Given the description of an element on the screen output the (x, y) to click on. 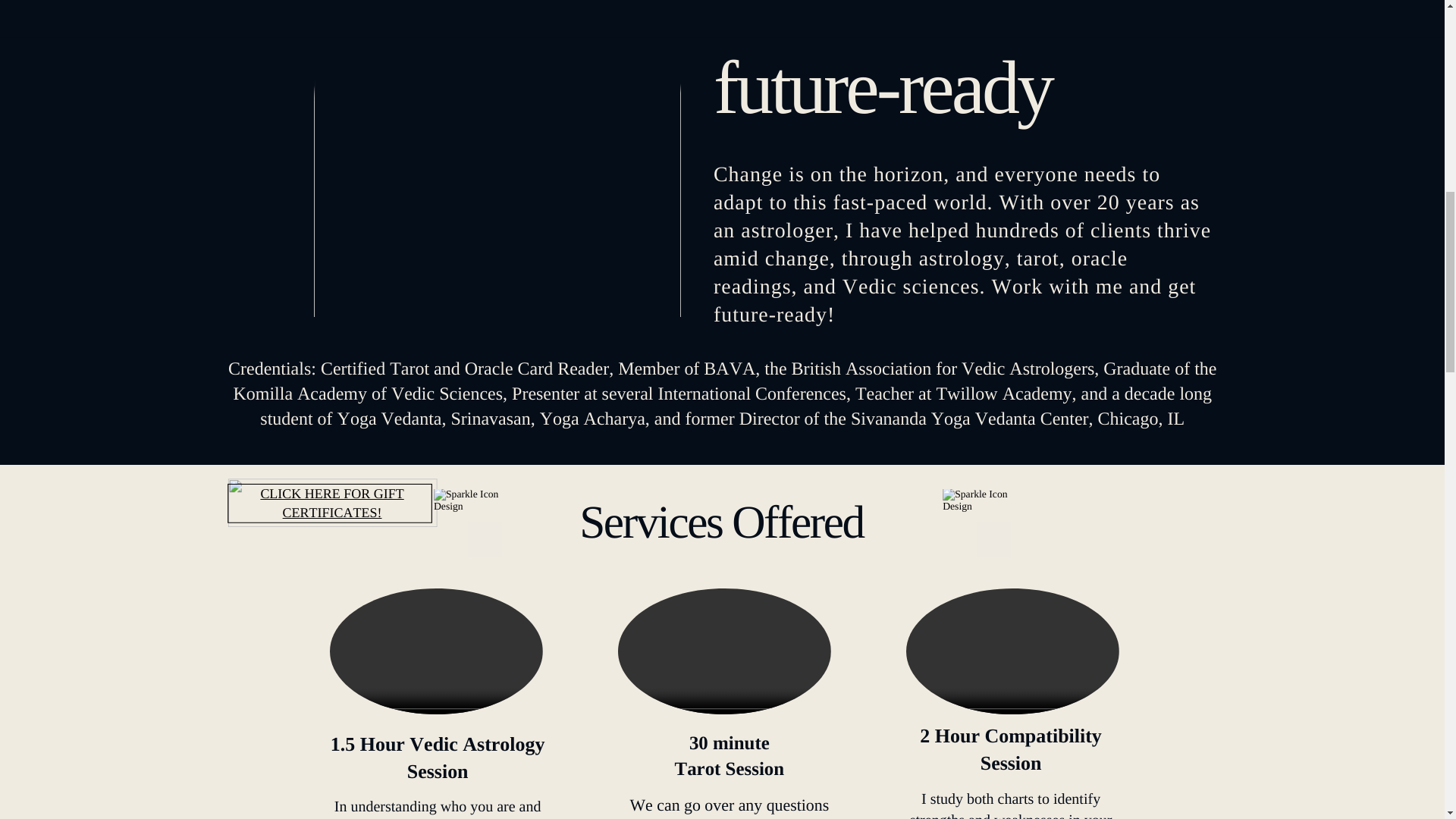
CLICK HERE FOR GIFT CERTIFICATES! (331, 503)
